Given the description of an element on the screen output the (x, y) to click on. 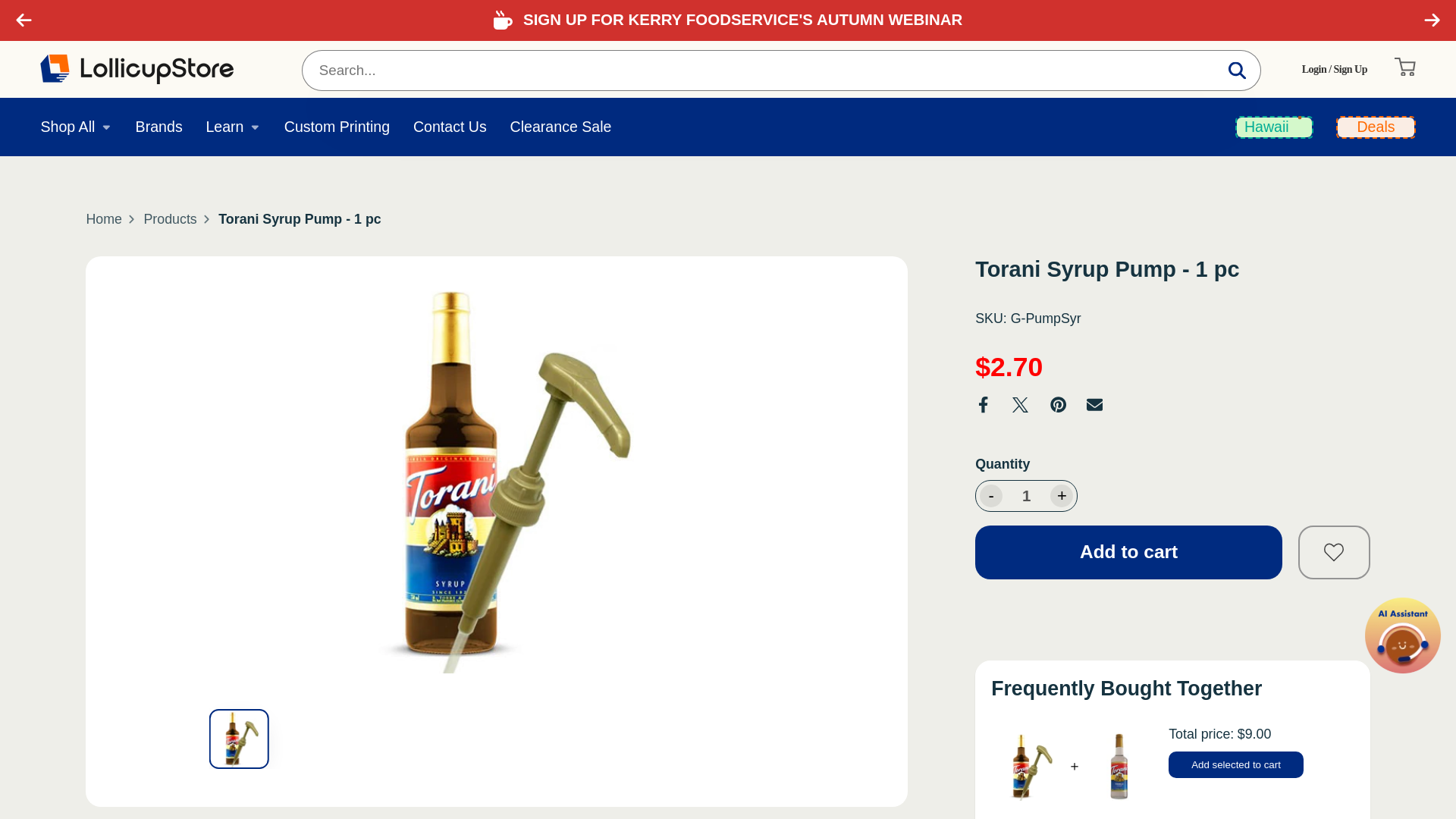
Account (1334, 69)
Shop All (76, 126)
1 (1026, 496)
Logo (136, 69)
- (991, 495)
